Given the description of an element on the screen output the (x, y) to click on. 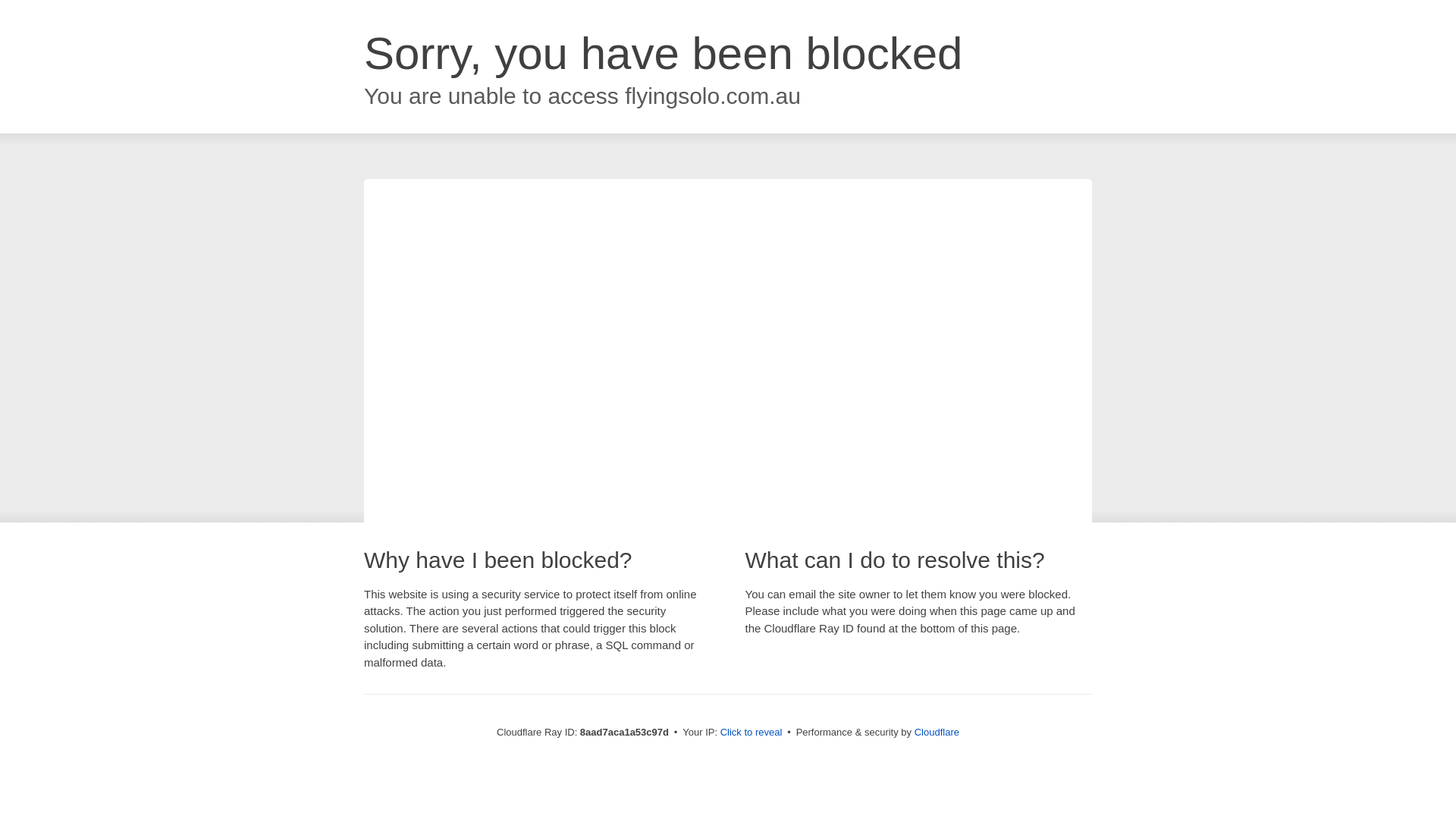
Cloudflare (936, 731)
Click to reveal (751, 732)
